Given the description of an element on the screen output the (x, y) to click on. 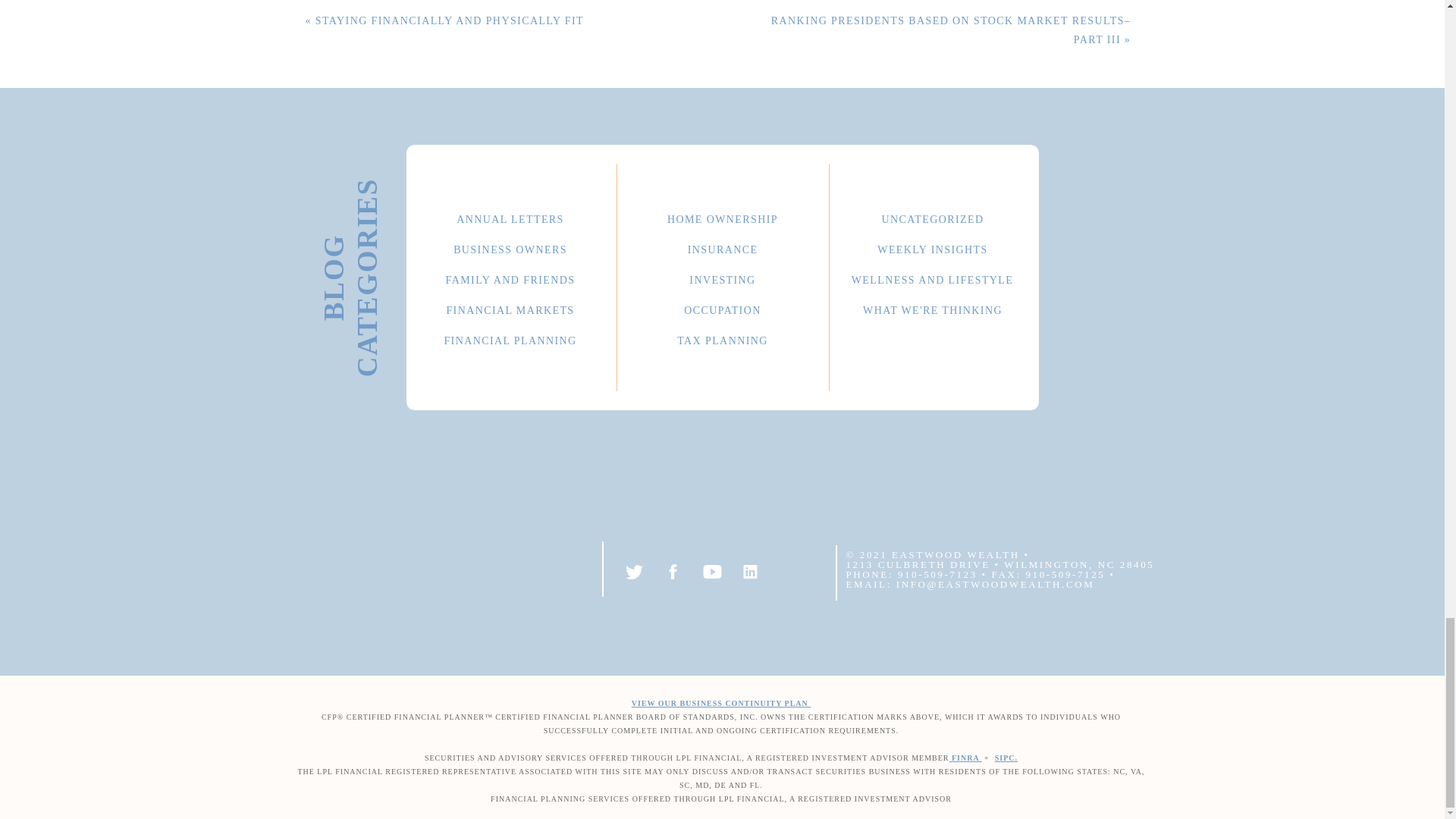
FINANCIAL PLANNING (509, 338)
INVESTING (721, 278)
INSURANCE (721, 247)
WEEKLY INSIGHTS (933, 247)
FAMILY AND FRIENDS (509, 278)
FINANCIAL MARKETS (509, 308)
OCCUPATION (721, 308)
BUSINESS OWNERS (509, 247)
WHAT WE'RE THINKING (933, 308)
STAYING FINANCIALLY AND PHYSICALLY FIT (449, 20)
ANNUAL LETTERS (509, 216)
WELLNESS AND LIFESTYLE (932, 278)
HOME OWNERSHIP (721, 216)
UNCATEGORIZED (933, 216)
TAX PLANNING (721, 338)
